Given the description of an element on the screen output the (x, y) to click on. 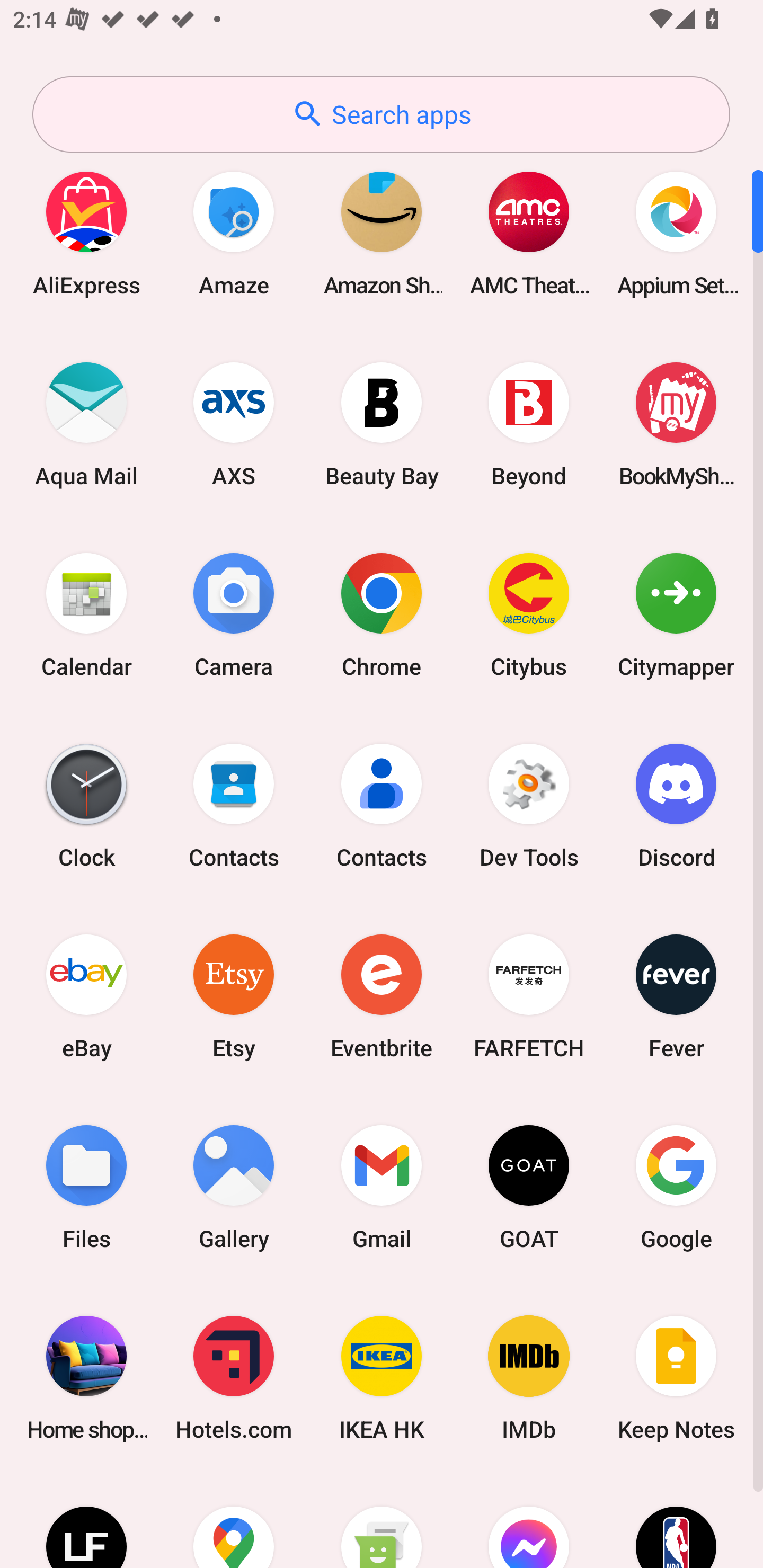
Citymapper (676, 614)
